Given the description of an element on the screen output the (x, y) to click on. 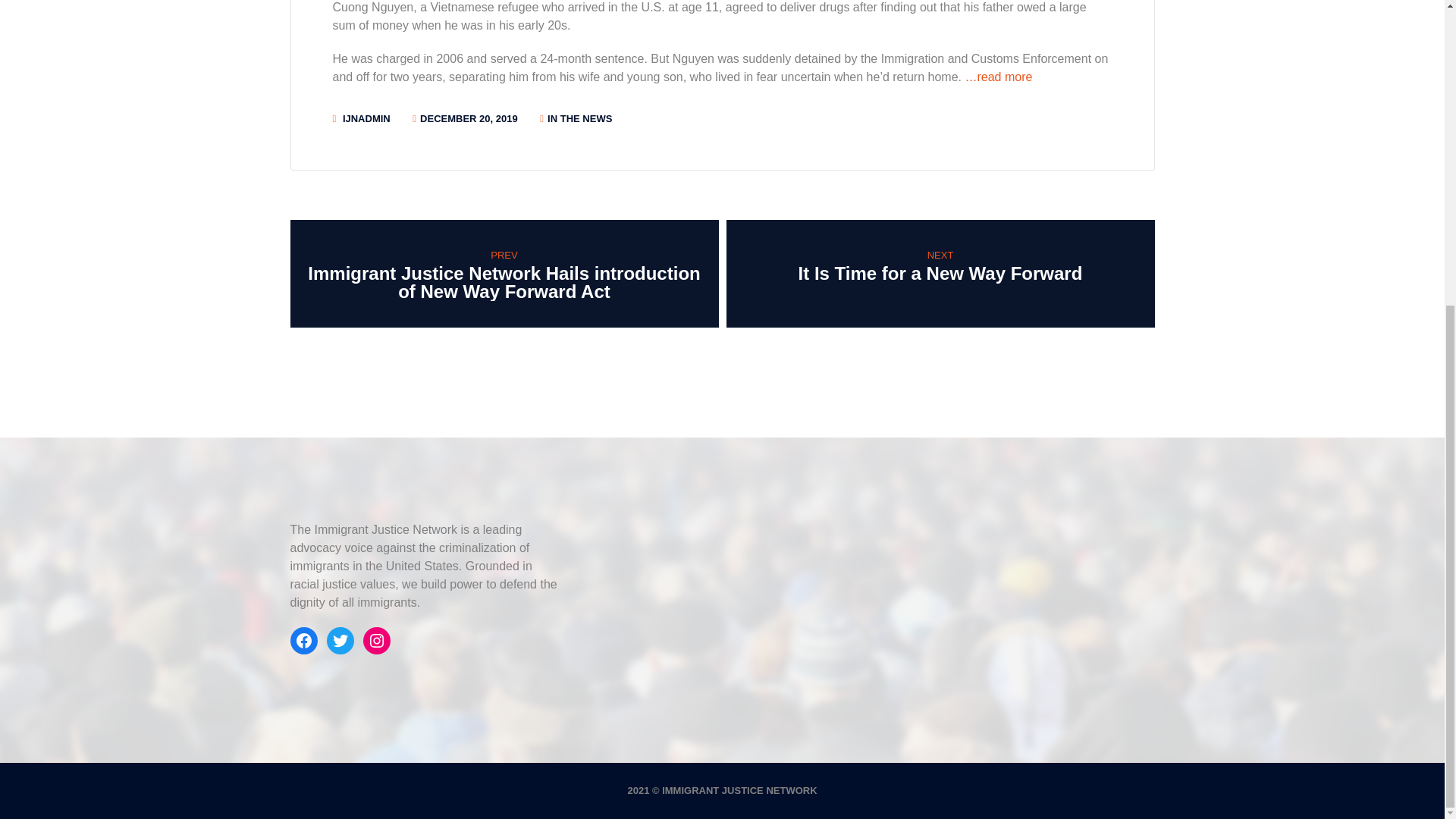
IN THE NEWS (579, 118)
IJNADMIN (366, 118)
DECEMBER 20, 2019 (469, 118)
Twitter (339, 640)
Instagram (376, 640)
Facebook (303, 640)
